Given the description of an element on the screen output the (x, y) to click on. 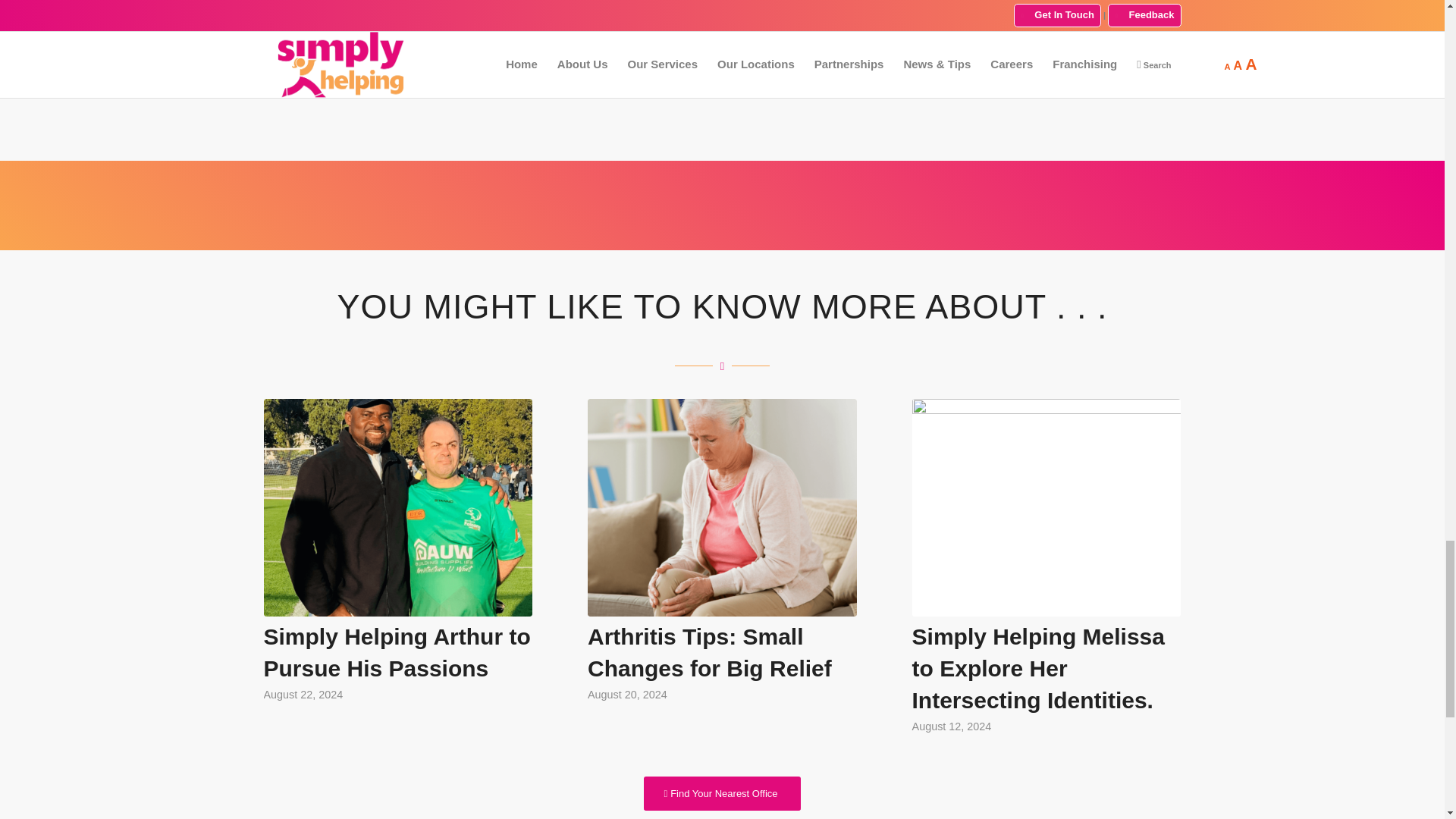
Arthritis Tips: Small Changes for Big Relief (709, 652)
Simply Helping Arthur to Pursue His Passions (397, 652)
